Given the description of an element on the screen output the (x, y) to click on. 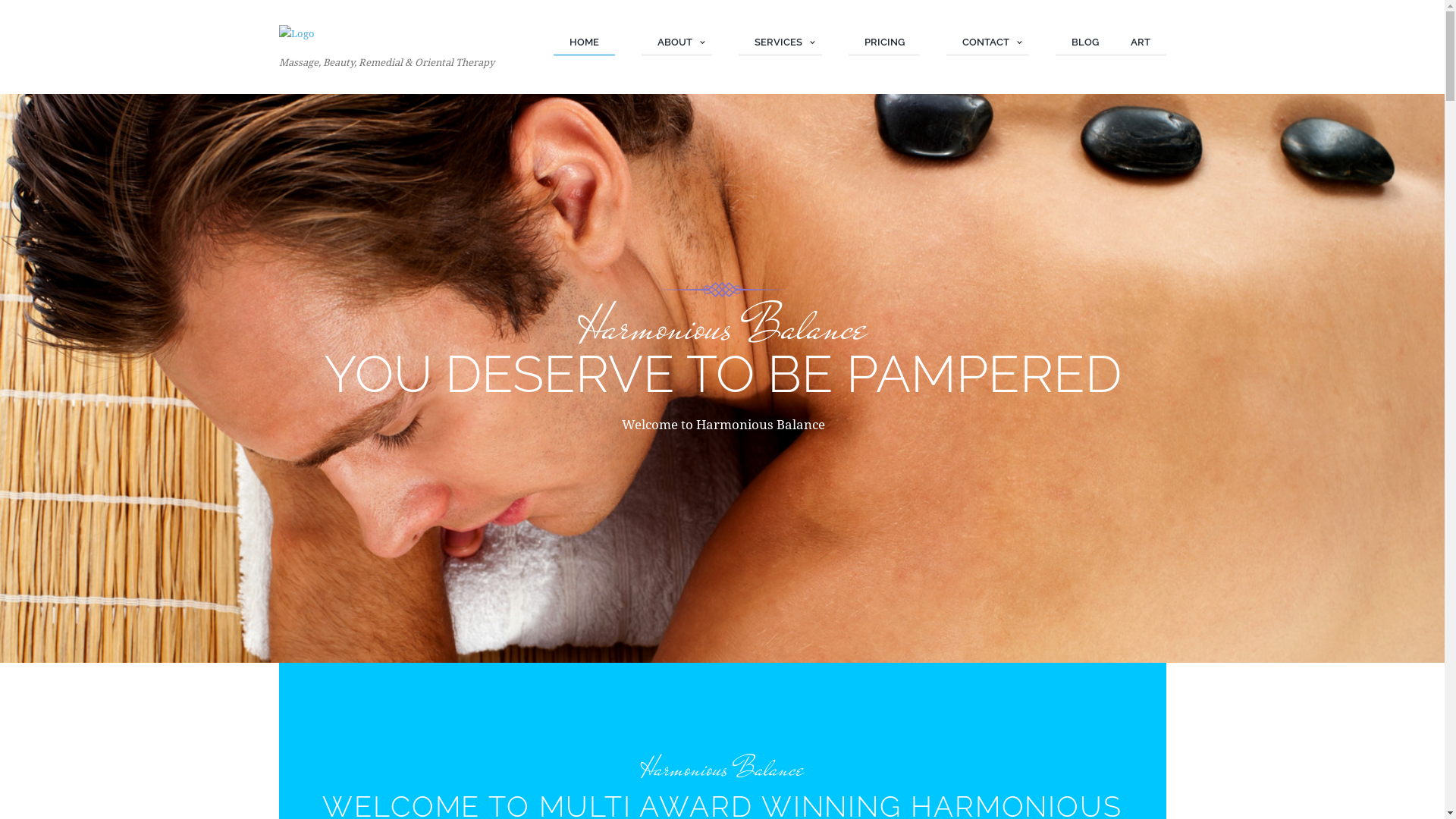
BLOG Element type: text (1084, 43)
CONTACT Element type: text (987, 43)
ART Element type: text (1140, 43)
SERVICES Element type: text (780, 43)
ABOUT Element type: text (676, 43)
HOME Element type: text (584, 43)
Massage, Beauty, Remedial & Oriental Therapy Element type: text (386, 48)
PRICING Element type: text (884, 43)
